Given the description of an element on the screen output the (x, y) to click on. 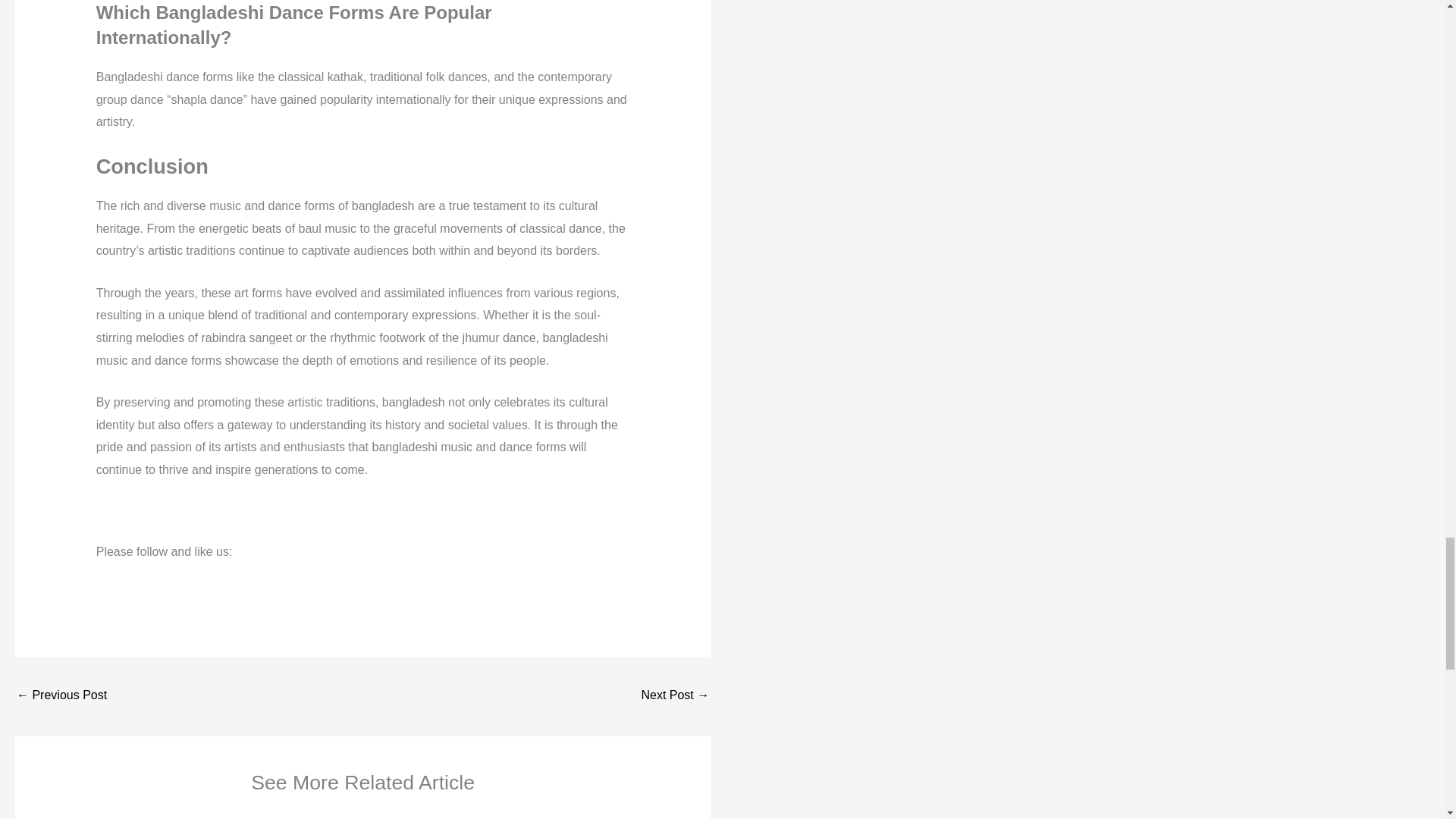
Tweet (235, 573)
Dakhil Result 2024 Madrasah Education Board (61, 696)
Pin Share (284, 574)
Facebook Share (183, 574)
